Given the description of an element on the screen output the (x, y) to click on. 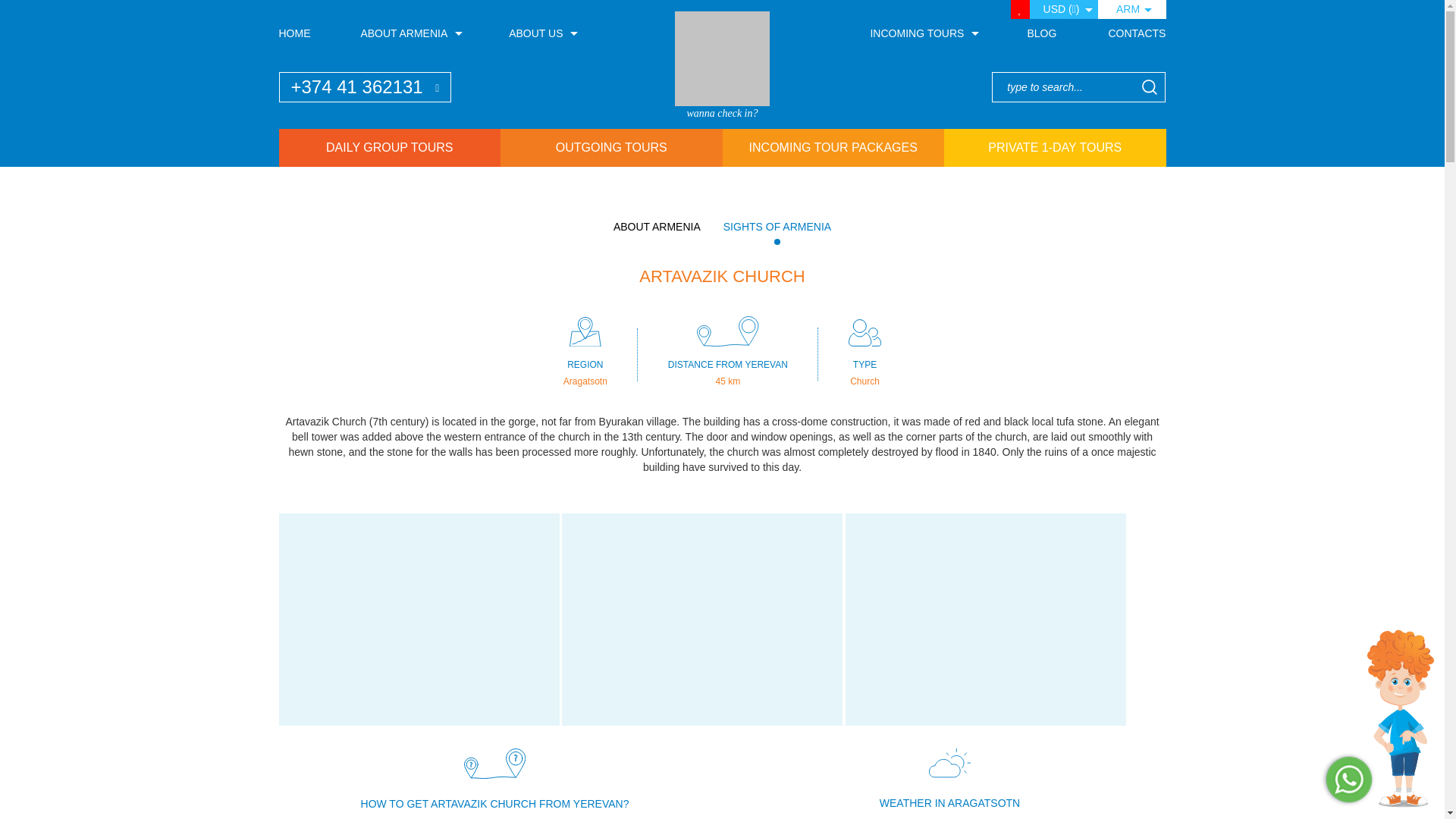
ABOUT US (540, 33)
Artavazik Church (702, 619)
ABOUT ARMENIA (408, 33)
INCOMING TOUR PACKAGES (832, 147)
DAILY GROUP TOURS (389, 147)
INCOMING TOURS (922, 33)
ARM (1131, 9)
CONTACTS (1137, 33)
OUTGOING TOURS (611, 147)
BLOG (1041, 33)
HOME (295, 33)
Artavazik Church (985, 619)
Artavazik Church (419, 619)
ONE WAY TOUR (722, 58)
